Given the description of an element on the screen output the (x, y) to click on. 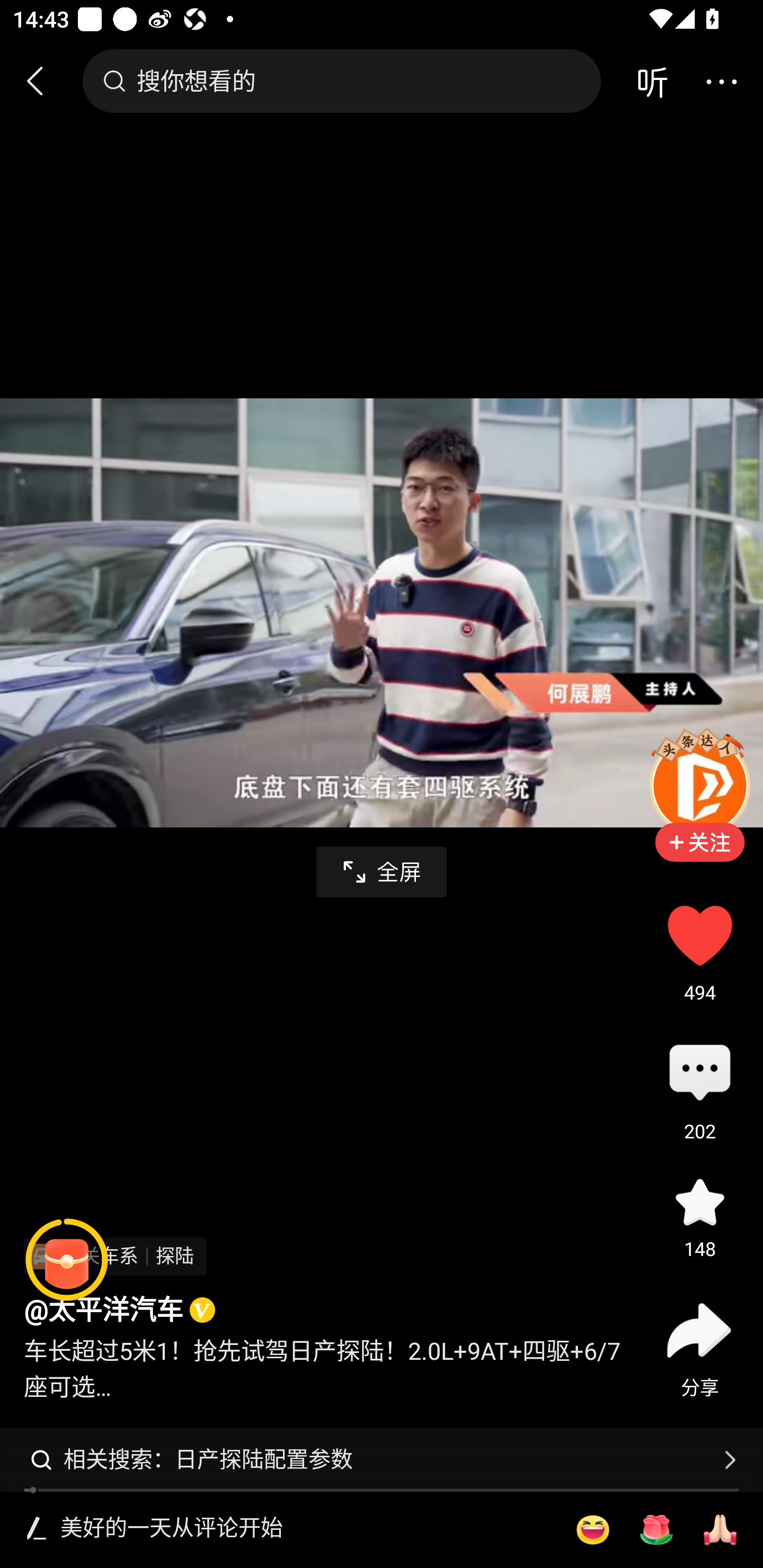
搜你想看的 搜索框，搜你想看的 (341, 80)
返回 (43, 80)
音频 (651, 80)
更多操作 (720, 80)
头像 (699, 785)
全屏播放 (381, 871)
已点赞494 494 (699, 935)
评论202 评论 202 (699, 1074)
收藏 148 (699, 1201)
阅读赚金币 (66, 1259)
分享 (699, 1330)
@太平洋汽车 (103, 1310)
相关搜索：日产探陆配置参数 (381, 1459)
美好的一天从评论开始 (305, 1529)
[大笑] (592, 1530)
[玫瑰] (656, 1530)
[祈祷] (719, 1530)
